Given the description of an element on the screen output the (x, y) to click on. 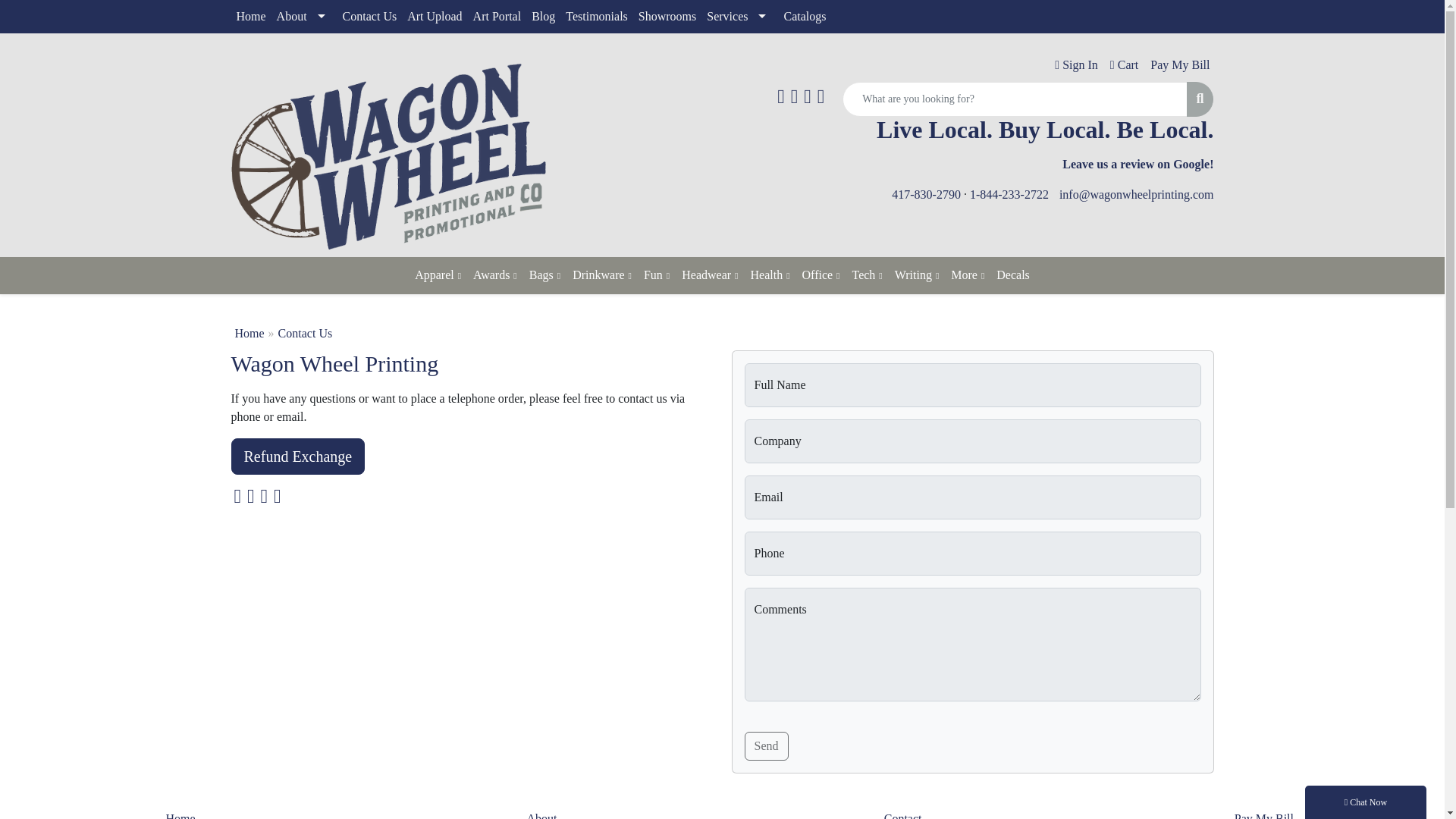
Art Upload (434, 16)
Send (766, 746)
Leave us a review on Google! (1137, 164)
Cart (1121, 64)
Home (250, 16)
Blog (542, 16)
Pay My Bill (1176, 64)
Showrooms (667, 16)
About (303, 16)
Sign In (1073, 64)
417-830-2790 (925, 194)
Art Portal (497, 16)
Services (739, 16)
Chat Now (1365, 802)
Catalogs (804, 16)
